Given the description of an element on the screen output the (x, y) to click on. 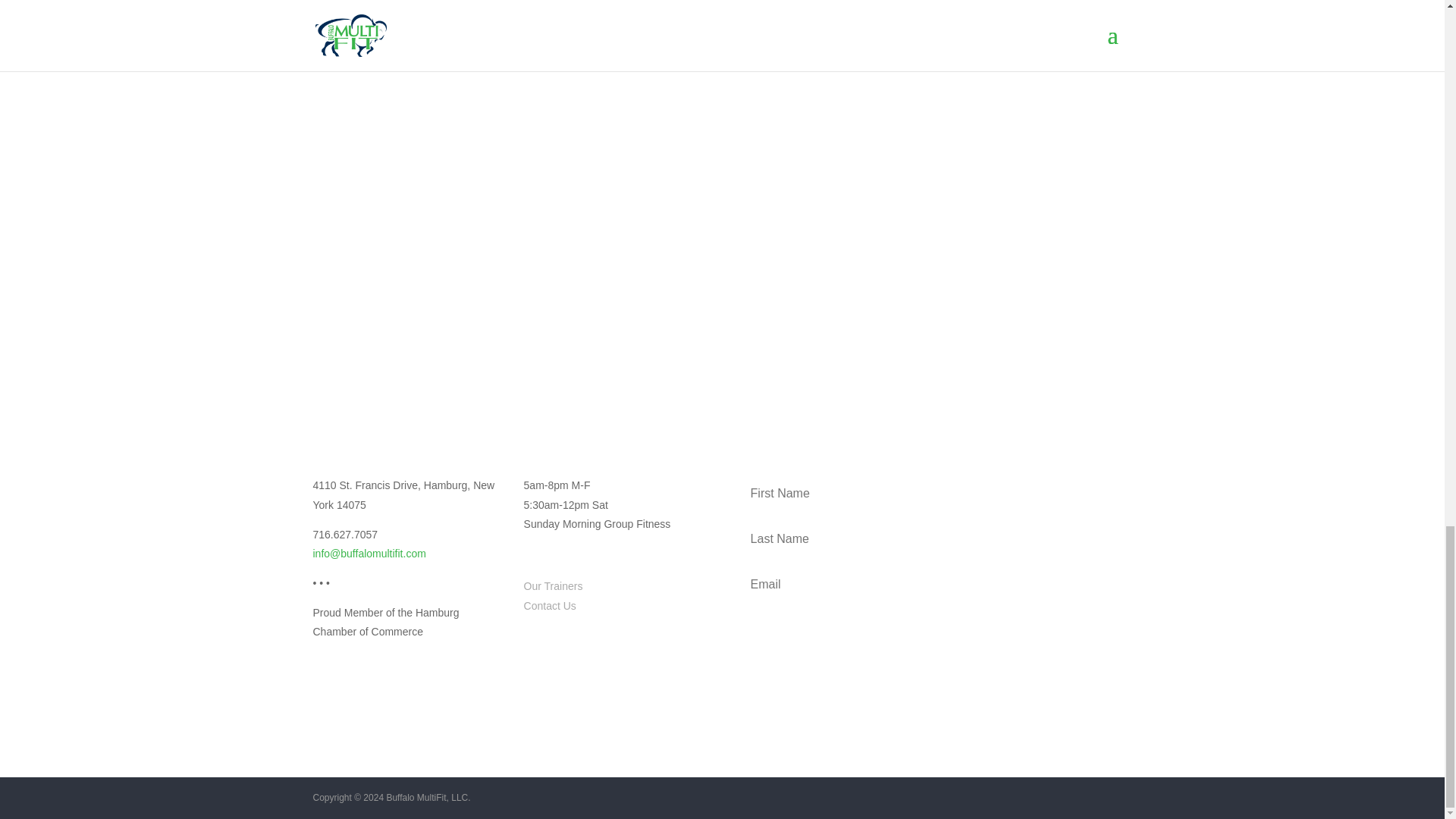
Contact Us (550, 605)
Follow on Instagram (324, 697)
Subscribe (933, 631)
Let's Get Started (721, 24)
Our Trainers (553, 585)
